Given the description of an element on the screen output the (x, y) to click on. 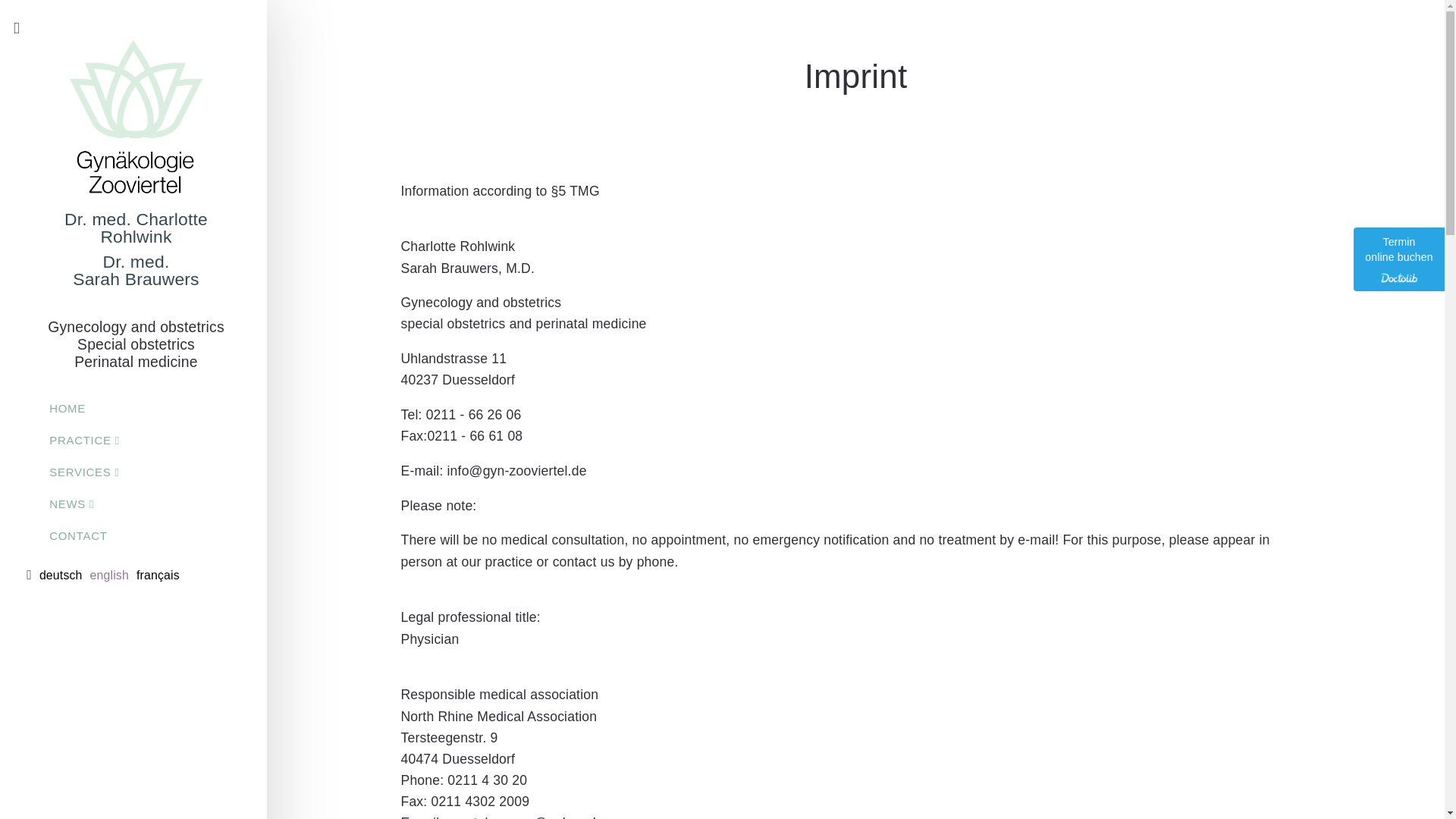
english (108, 575)
HOME (113, 408)
NEWS  (113, 503)
SERVICES  (113, 471)
PRACTICE  (113, 439)
Contact (113, 535)
deutsch (59, 575)
CONTACT (113, 535)
Home (113, 408)
